Given the description of an element on the screen output the (x, y) to click on. 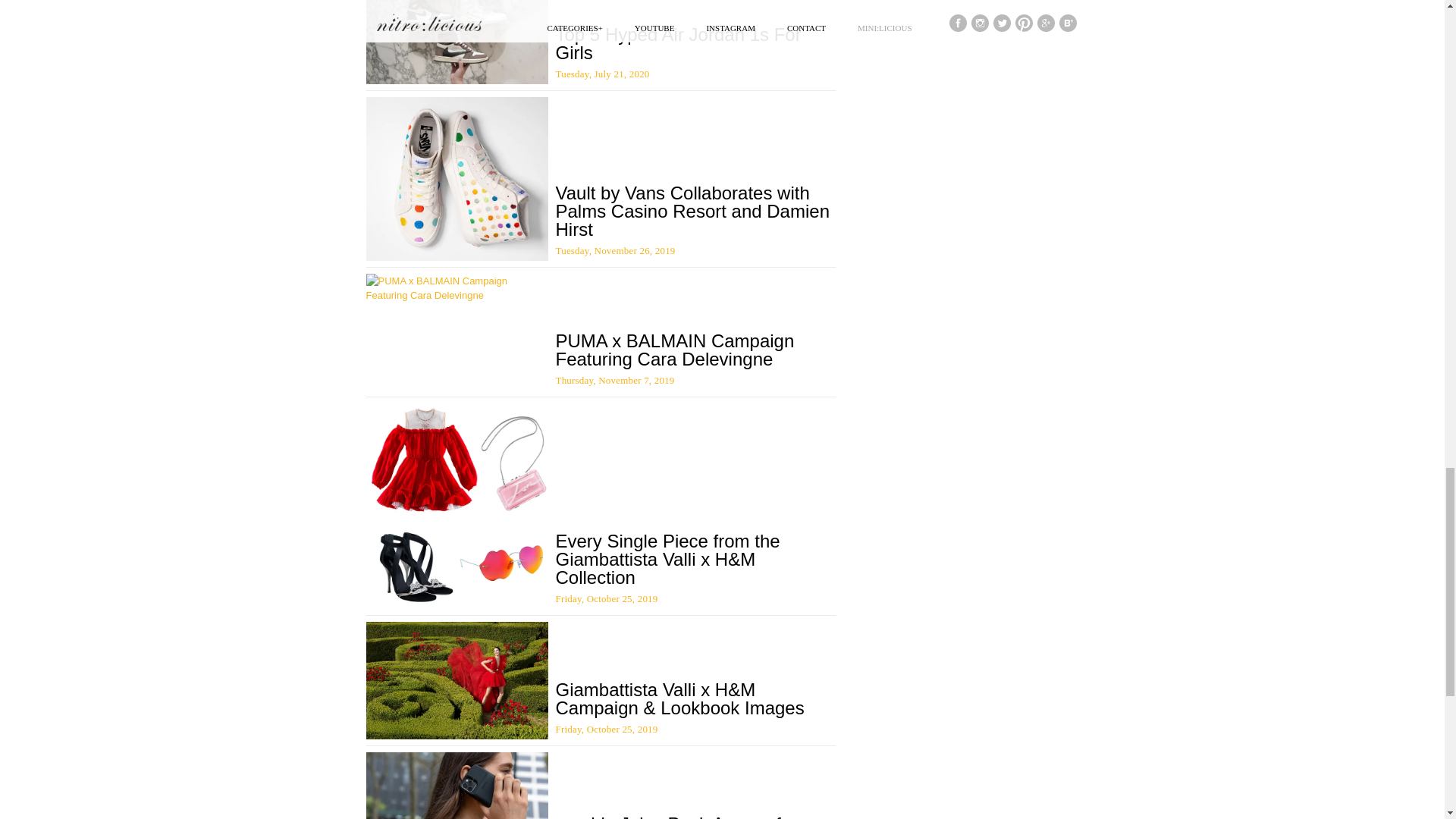
Top 5 Hyped Air Jordan 1s For Girls (677, 43)
mophie Juice Pack Access for iPhone 11 Line (675, 816)
PUMA x BALMAIN Campaign Featuring Cara Delevingne (673, 349)
